Given the description of an element on the screen output the (x, y) to click on. 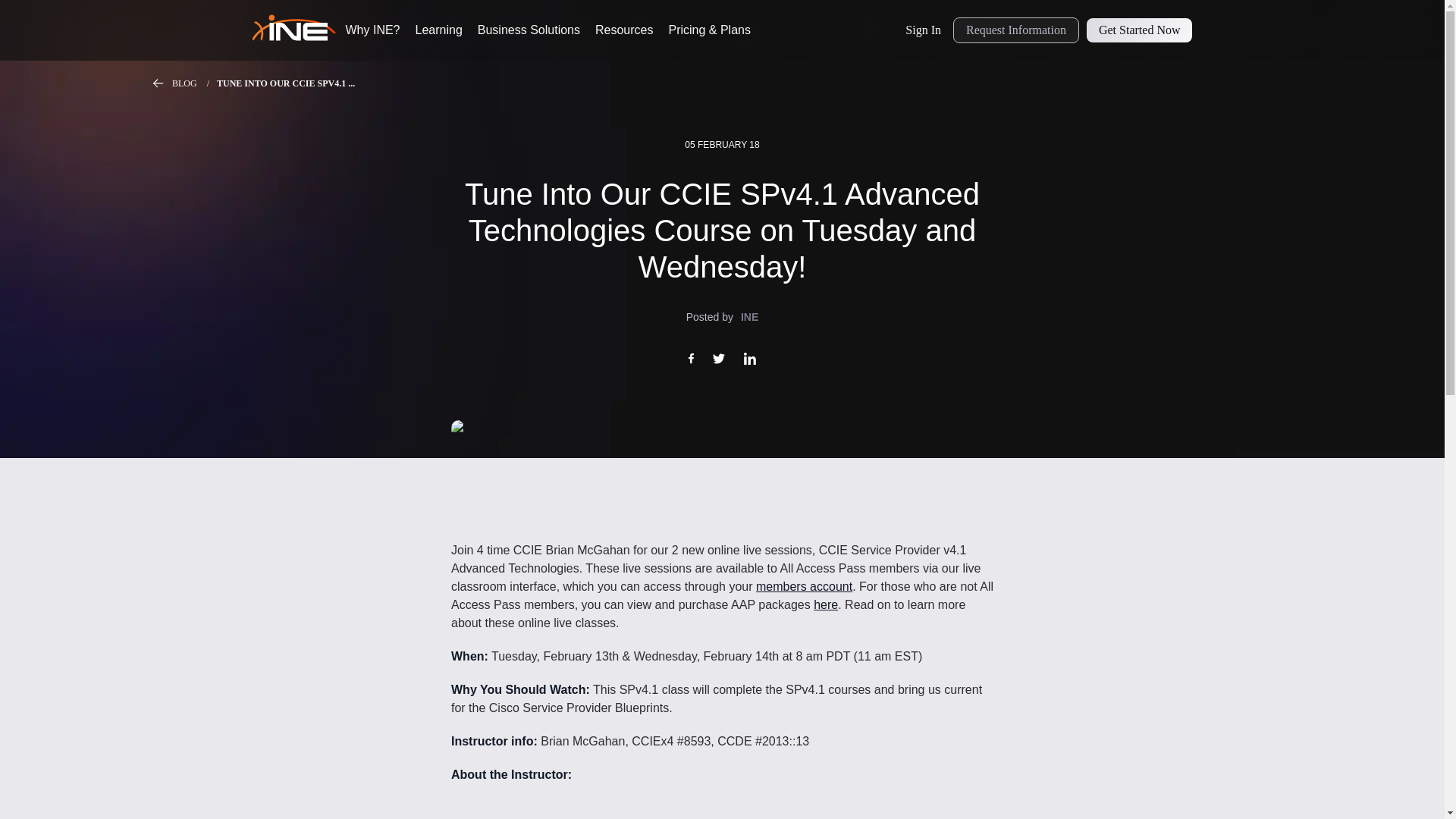
Request Information (1015, 30)
Get Started Now (1139, 30)
members account (803, 585)
Business Solutions (528, 30)
here (825, 604)
Sign In (923, 30)
Why INE? (373, 30)
BLOG (193, 83)
Resources (623, 30)
